Given the description of an element on the screen output the (x, y) to click on. 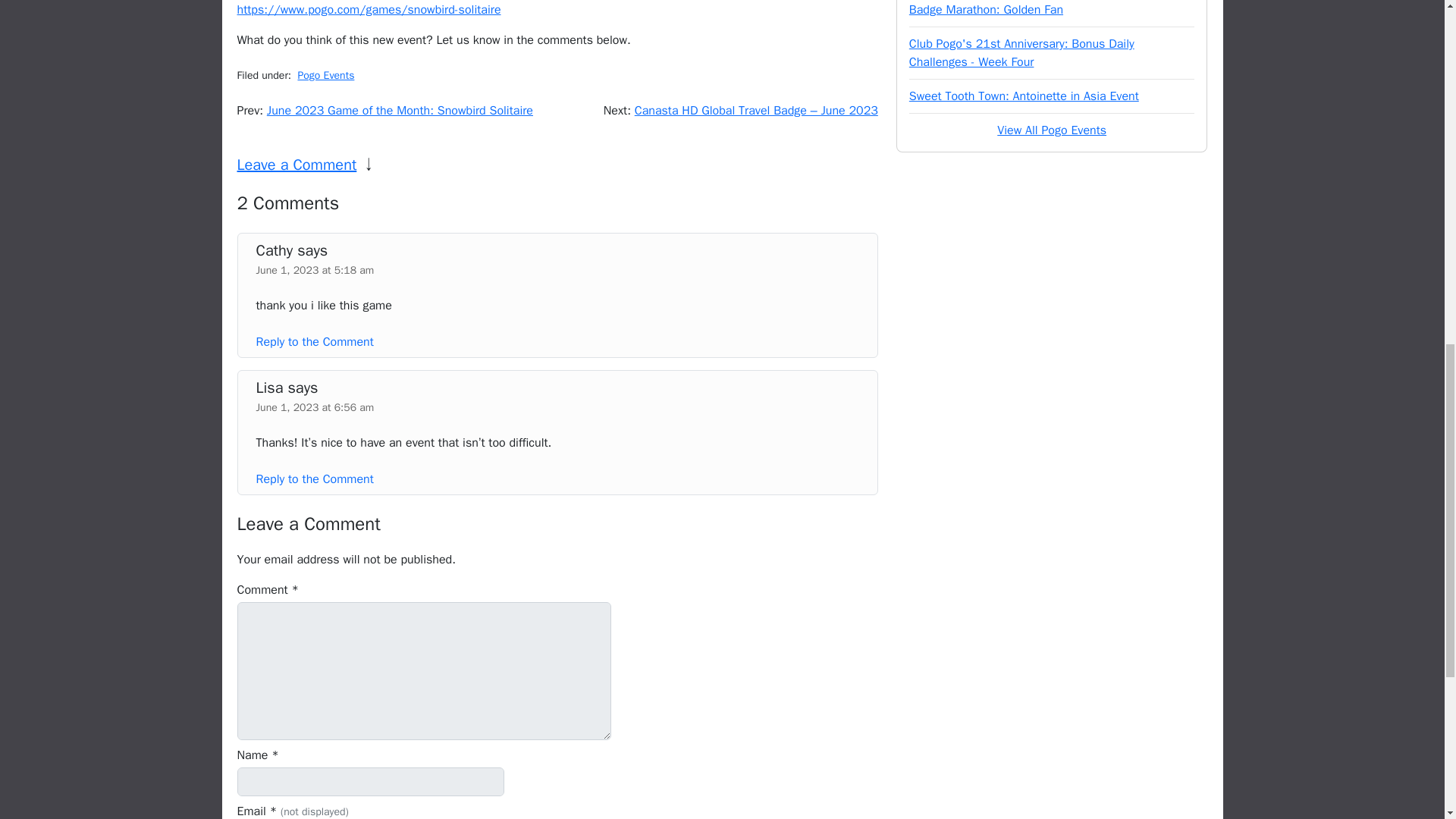
Reply to the Comment (315, 341)
Sweet Tooth Town: Antoinette in Asia Event (1023, 96)
June 2023 Game of the Month: Snowbird Solitaire (399, 110)
Reply to the Comment (315, 478)
June 1, 2023 at 5:18 am (315, 269)
Pogo Events (325, 74)
Comment (422, 670)
Name (369, 781)
Leave a Comment (295, 164)
Badge Marathon: Golden Fan (985, 9)
June 1, 2023 at 6:56 am (315, 407)
